Given the description of an element on the screen output the (x, y) to click on. 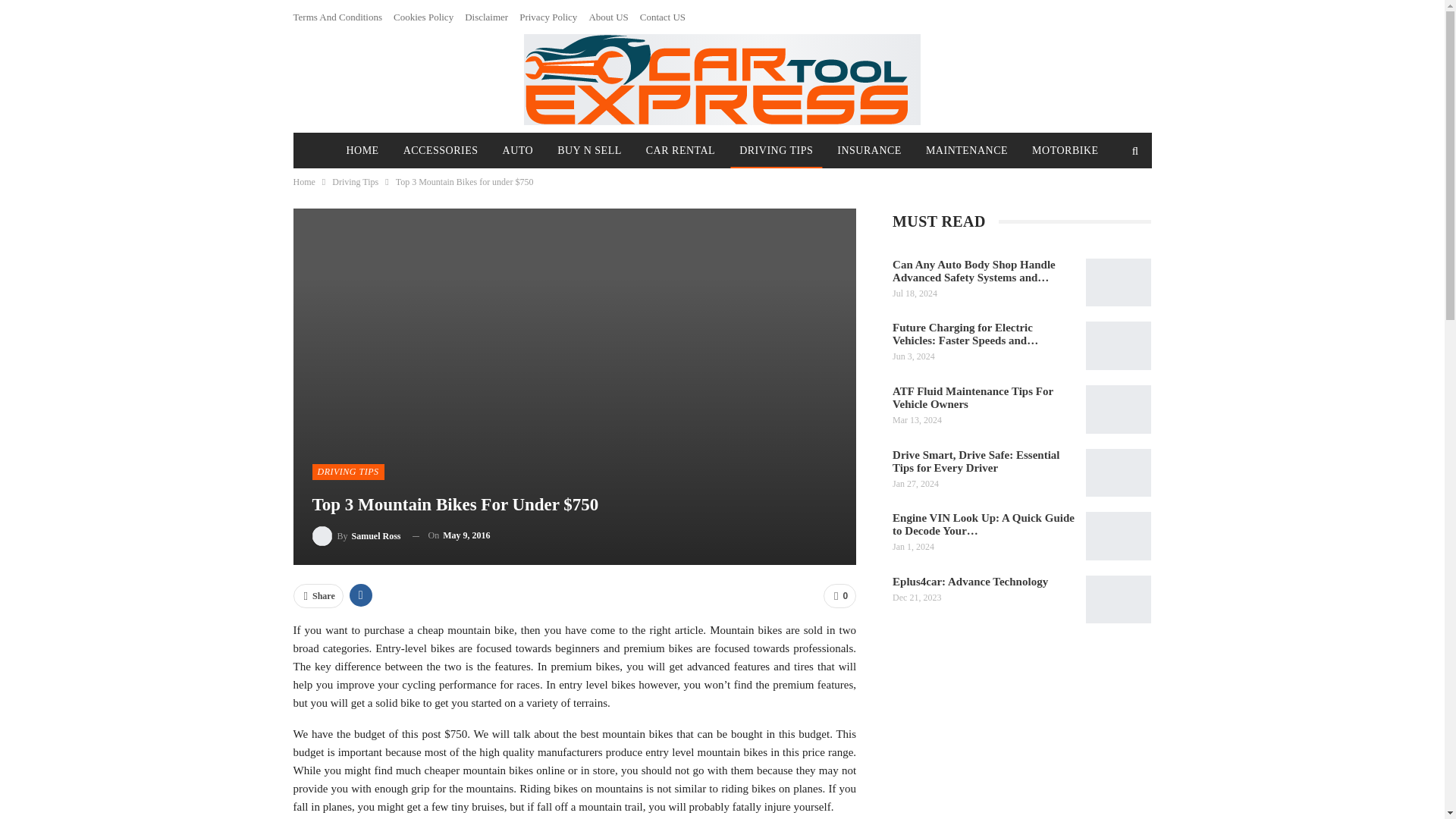
Home (303, 181)
CAR RENTAL (680, 150)
Disclaimer (486, 16)
0 (840, 595)
AUTO (518, 150)
BUY N SELL (589, 150)
Privacy Policy (547, 16)
Terms And Conditions (336, 16)
About US (607, 16)
ACCESSORIES (440, 150)
MAINTENANCE (966, 150)
INSURANCE (869, 150)
MOTORBIKE (1064, 150)
HOME (361, 150)
Cookies Policy (422, 16)
